Given the description of an element on the screen output the (x, y) to click on. 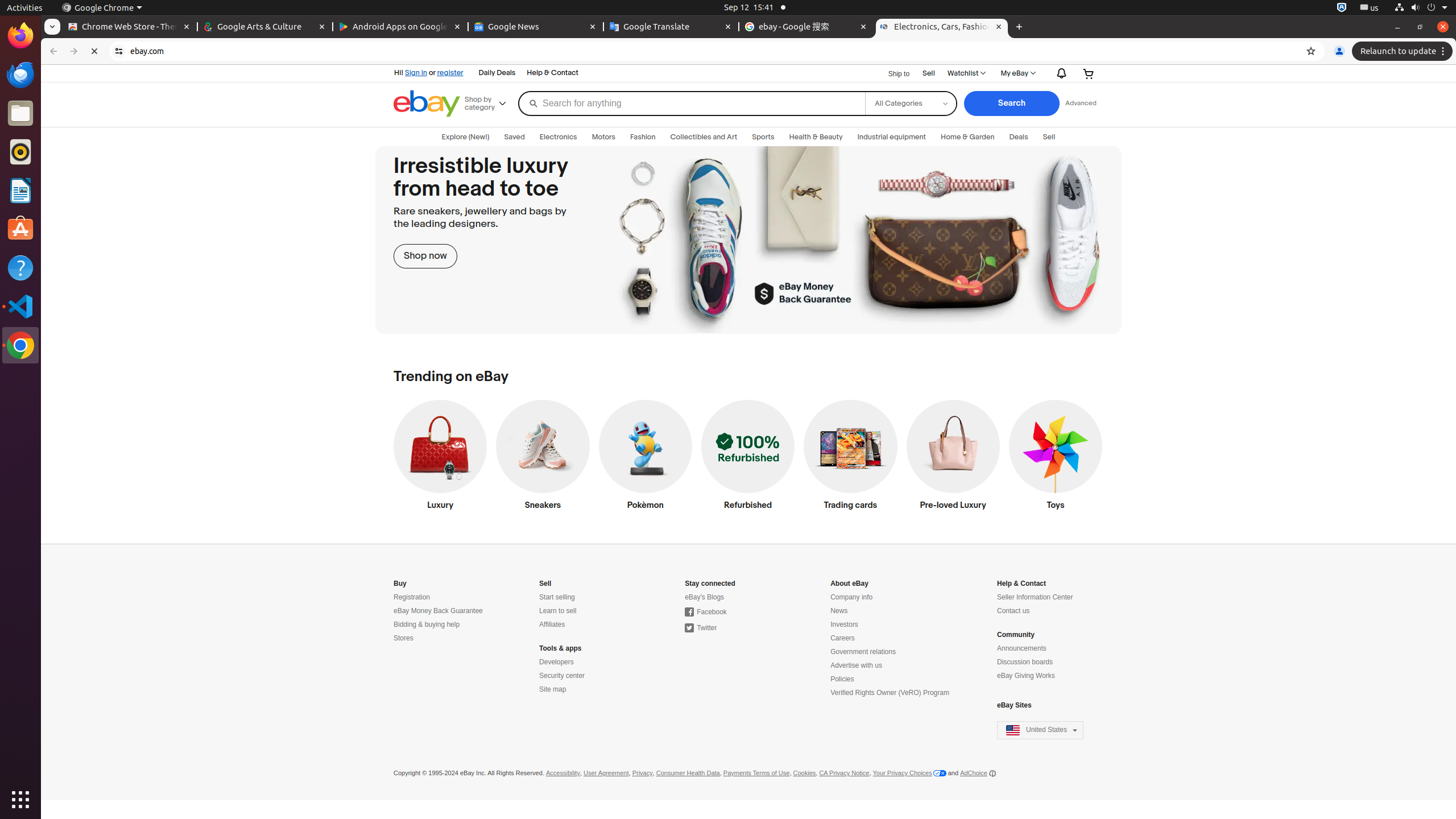
Site map Element type: link (552, 689)
Electronics Element type: link (558, 136)
Learn to sell Element type: link (557, 610)
Trading cards Element type: link (850, 457)
Shop by category Element type: push-button (489, 103)
